Given the description of an element on the screen output the (x, y) to click on. 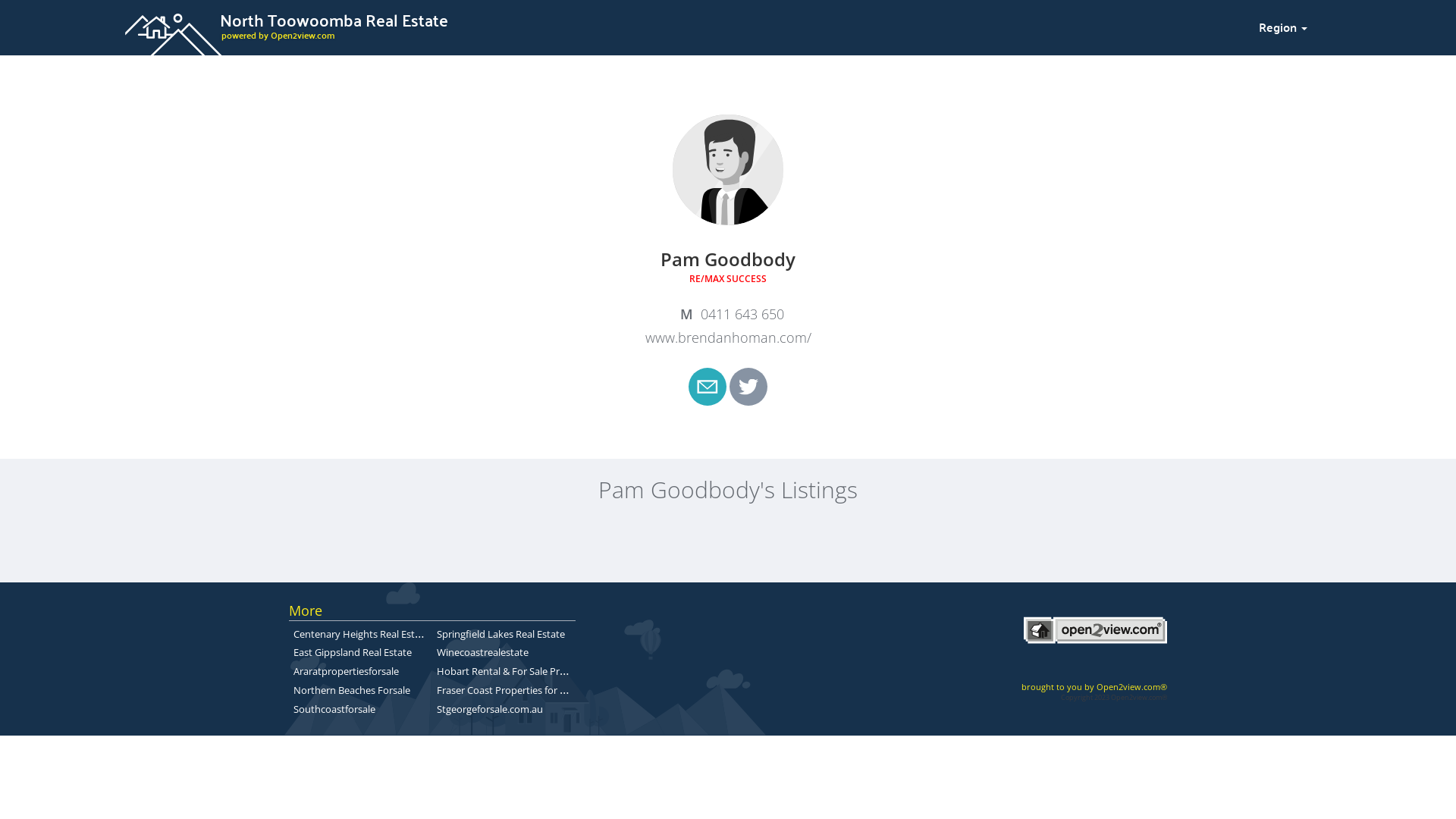
North Toowoomba Real Estate
powered by Open2view.com Element type: text (682, 25)
www.brendanhoman.com/ Element type: text (727, 337)
Springfield Lakes Real Estate Element type: text (500, 633)
Araratpropertiesforsale Element type: text (345, 670)
Hobart Rental & For Sale Property Listings Element type: text (531, 670)
Fraser Coast Properties for Sale Element type: text (506, 688)
East Gippsland Real Estate Element type: text (352, 651)
Southcoastforsale Element type: text (334, 708)
Centenary Heights Real Estate Element type: text (361, 632)
0411 643 650 Element type: text (727, 314)
Northern Beaches Forsale Element type: text (351, 689)
Stgeorgeforsale.com.au Element type: text (489, 708)
Winecoastrealestate Element type: text (482, 651)
